Given the description of an element on the screen output the (x, y) to click on. 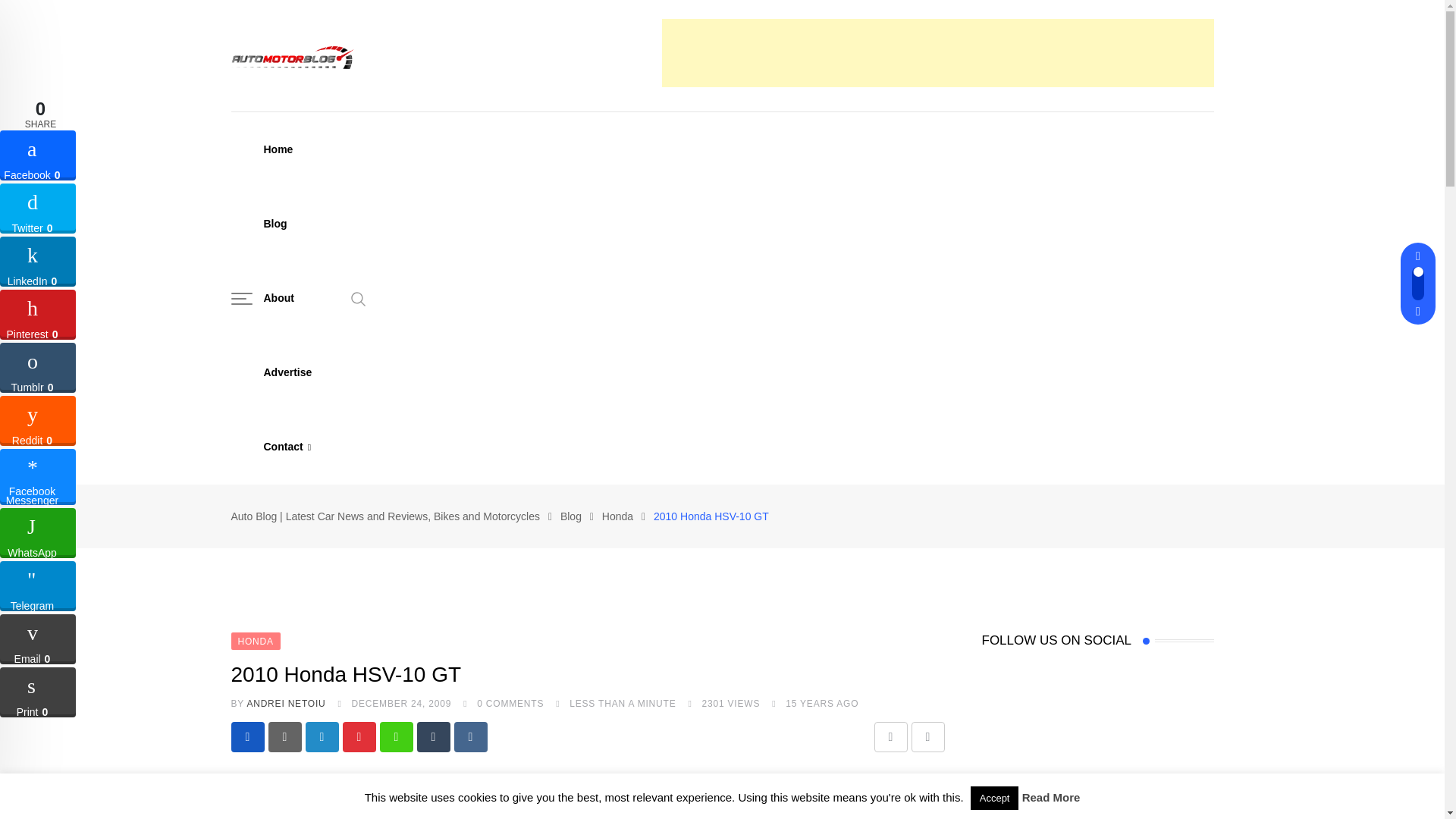
Go to the Honda Category archives. (617, 516)
Advertise (287, 371)
Advertisement (936, 52)
on (986, 512)
Posts by Andrei Netoiu (285, 703)
Go to Blog. (570, 516)
Sign Up Now (1027, 551)
Contact (286, 446)
